Given the description of an element on the screen output the (x, y) to click on. 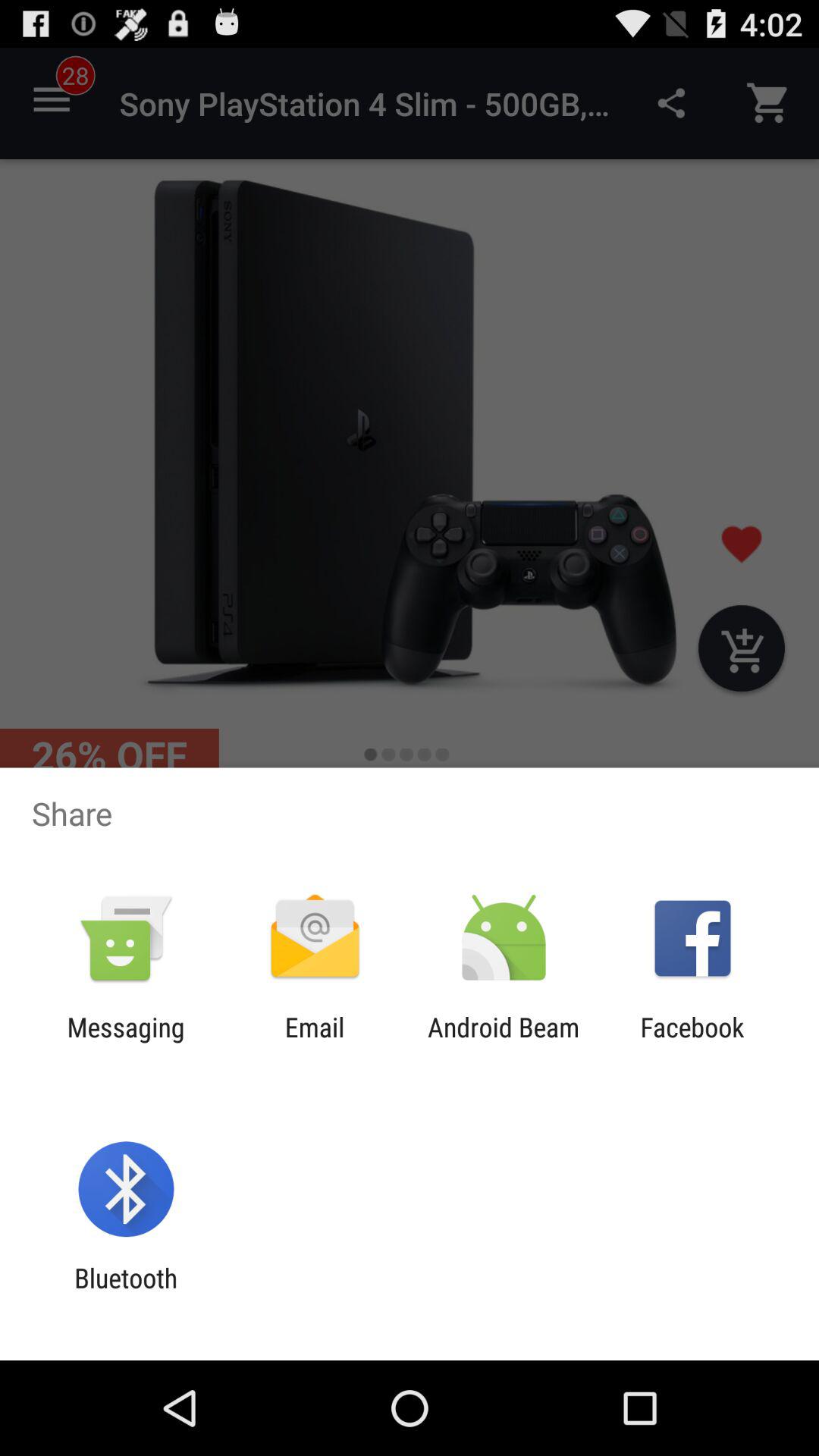
launch the messaging icon (125, 1042)
